Given the description of an element on the screen output the (x, y) to click on. 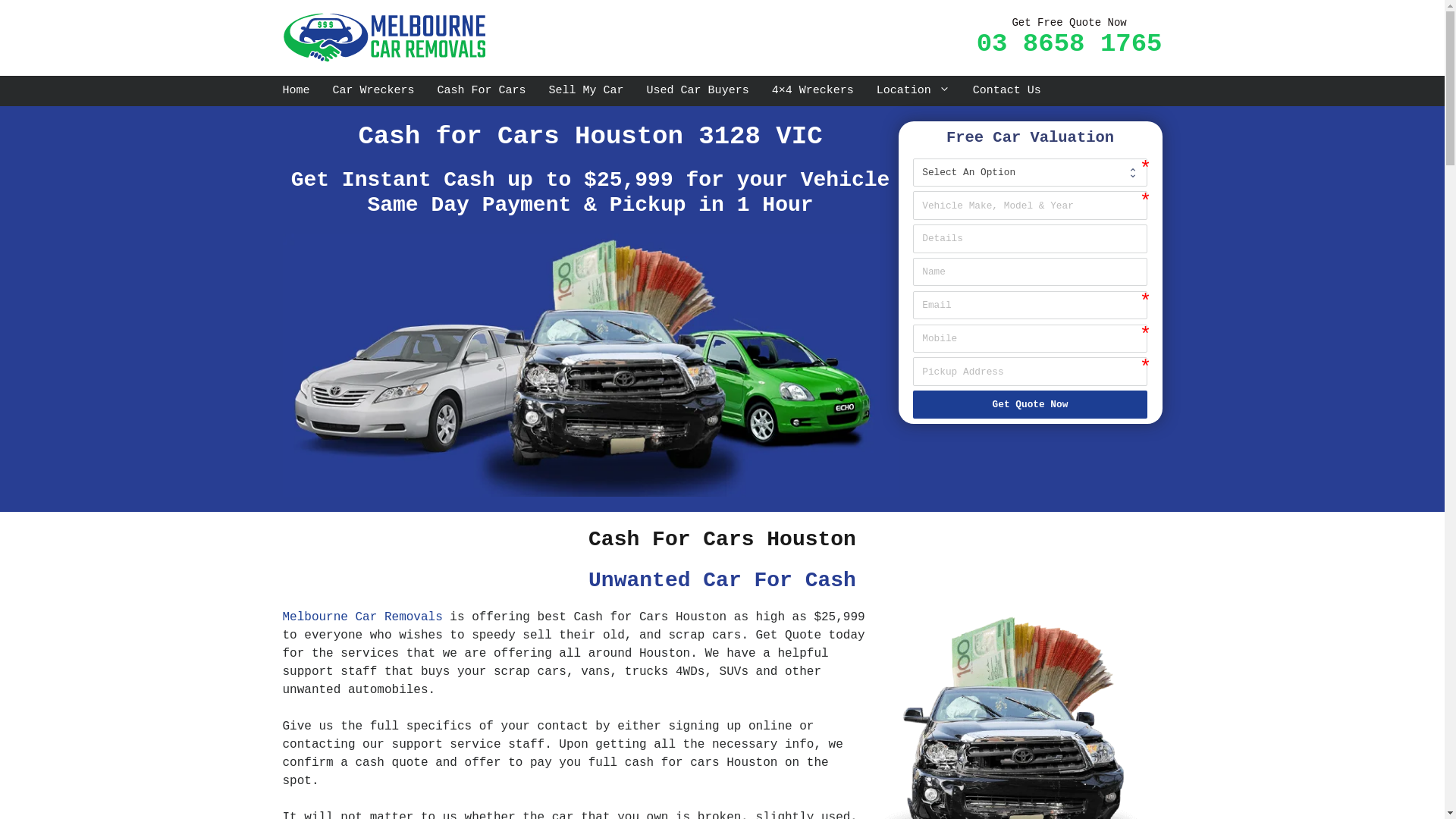
Cash For Cars Element type: text (481, 90)
cash for cars Houston 3128 vic Element type: hover (589, 364)
Melbourne Car Removals Element type: text (362, 617)
Location Element type: text (913, 90)
Car Wreckers Element type: text (373, 90)
Sell My Car Element type: text (586, 90)
Get Quote Now Element type: text (1030, 404)
03 8658 1765 Element type: text (1069, 43)
Home Element type: text (296, 90)
Melbourne Car Removals Element type: hover (385, 37)
Melbourne Car Removals Element type: hover (385, 37)
Contact Us Element type: text (1006, 90)
Used Car Buyers Element type: text (697, 90)
